Given the description of an element on the screen output the (x, y) to click on. 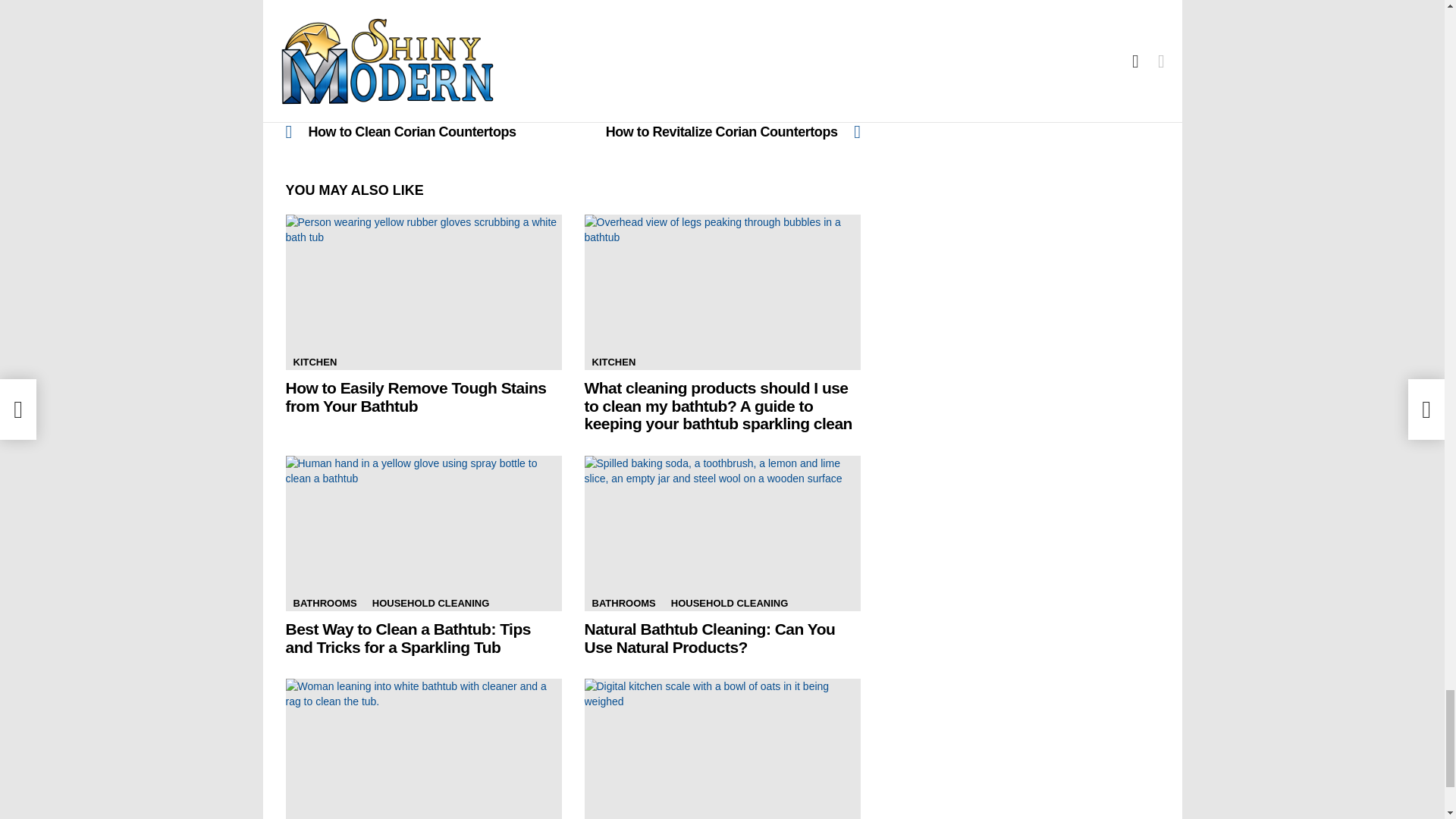
How to Easily Remove Tough Stains from Your Bathtub (716, 123)
